Given the description of an element on the screen output the (x, y) to click on. 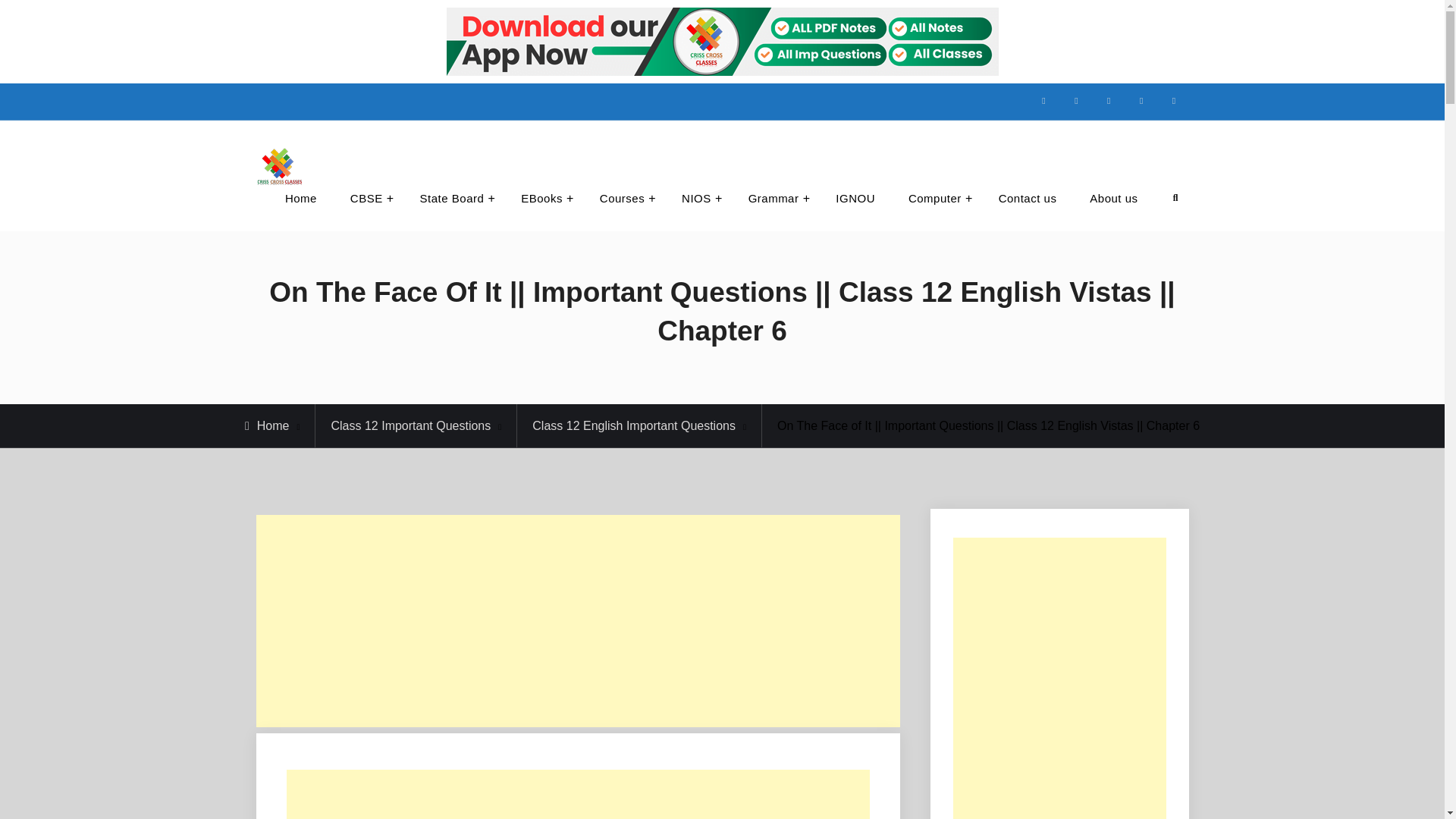
telegram (1173, 101)
CBSE (367, 198)
Home (300, 198)
State Board (453, 198)
instagram (1075, 101)
youtube (1141, 101)
facebook (1043, 101)
Advertisement (577, 794)
twitter (1109, 101)
